Given the description of an element on the screen output the (x, y) to click on. 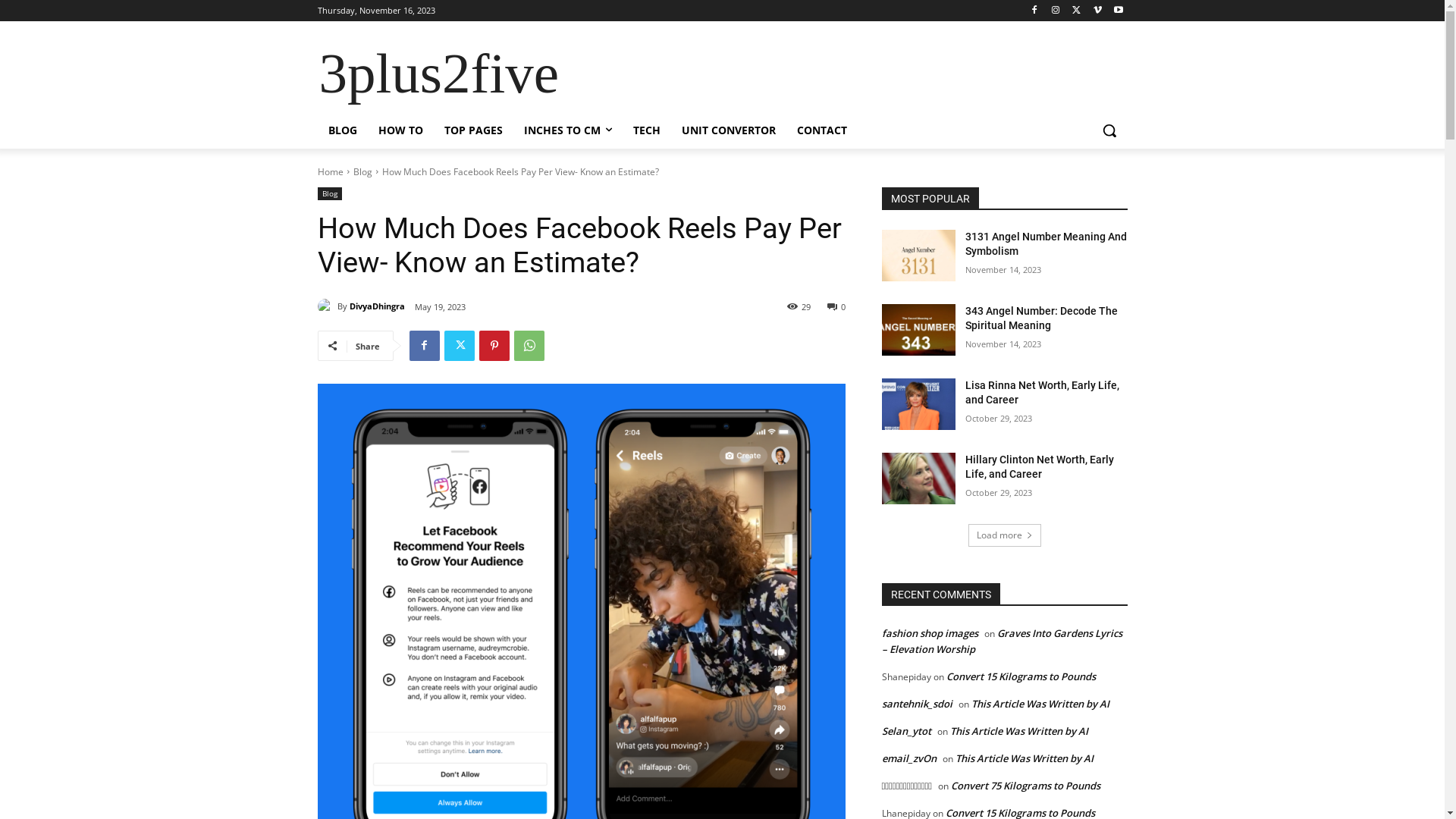
TECH Element type: text (645, 130)
Blog Element type: text (362, 171)
Home Element type: text (329, 171)
Youtube Element type: hover (1118, 9)
WhatsApp Element type: hover (529, 345)
email_zvOn Element type: text (908, 758)
Vimeo Element type: hover (1097, 9)
HOW TO Element type: text (400, 130)
CONTACT Element type: text (820, 130)
UNIT CONVERTOR Element type: text (727, 130)
3131 Angel Number Meaning And Symbolism Element type: text (1045, 243)
Twitter Element type: hover (1076, 9)
343 Angel Number: Decode The Spiritual Meaning Element type: text (1041, 318)
This Article Was Written by AI Element type: text (1018, 730)
BLOG Element type: text (341, 130)
3131 Angel Number Meaning And Symbolism Element type: hover (917, 254)
This Article Was Written by AI Element type: text (1039, 703)
343 Angel Number: Decode The Spiritual Meaning Element type: hover (917, 329)
Selan_ytot Element type: text (905, 730)
0 Element type: text (835, 305)
Lisa Rinna Net Worth, Early Life, and Career Element type: text (1042, 392)
fashion shop images Element type: text (929, 633)
Blog Element type: text (328, 192)
Facebook Element type: hover (1034, 9)
Convert 75 Kilograms to Pounds Element type: text (1025, 785)
This Article Was Written by AI Element type: text (1024, 758)
Facebook Element type: hover (424, 345)
DivyaDhingra Element type: hover (326, 305)
Lisa Rinna Net Worth, Early Life, and Career Element type: hover (917, 403)
INCHES TO CM Element type: text (566, 130)
Convert 15 Kilograms to Pounds Element type: text (1020, 676)
DivyaDhingra Element type: text (376, 305)
3plus2five Element type: text (437, 73)
TOP PAGES Element type: text (473, 130)
Load more Element type: text (1003, 535)
santehnik_sdoi Element type: text (916, 703)
Twitter Element type: hover (459, 345)
Pinterest Element type: hover (494, 345)
Instagram Element type: hover (1054, 9)
Hillary Clinton Net Worth, Early Life, and Career Element type: text (1039, 466)
Hillary Clinton Net Worth, Early Life, and Career Element type: hover (917, 478)
